Given the description of an element on the screen output the (x, y) to click on. 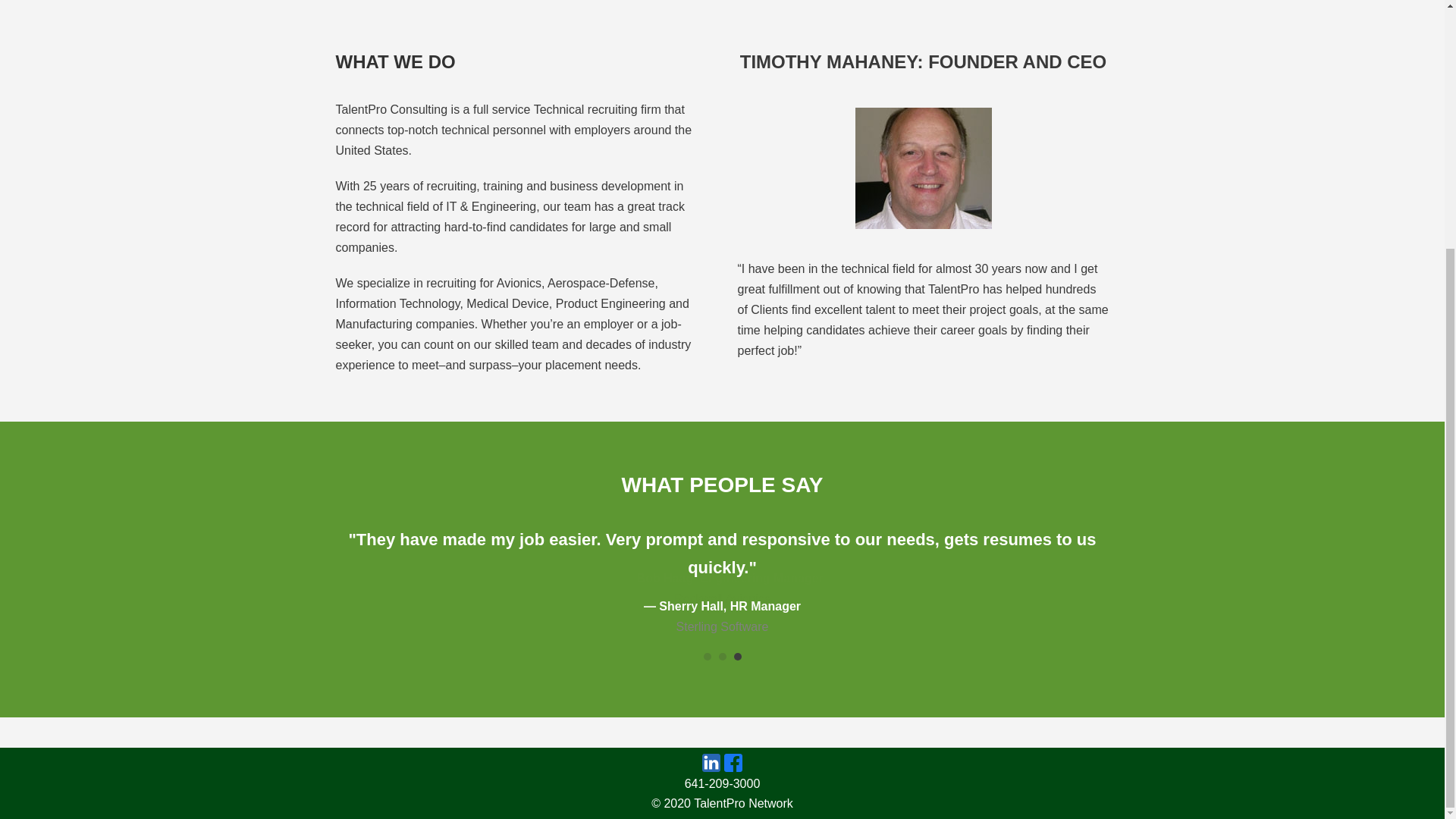
2 (722, 656)
3 (737, 656)
1 (707, 656)
641-209-3000 (722, 783)
